Given the description of an element on the screen output the (x, y) to click on. 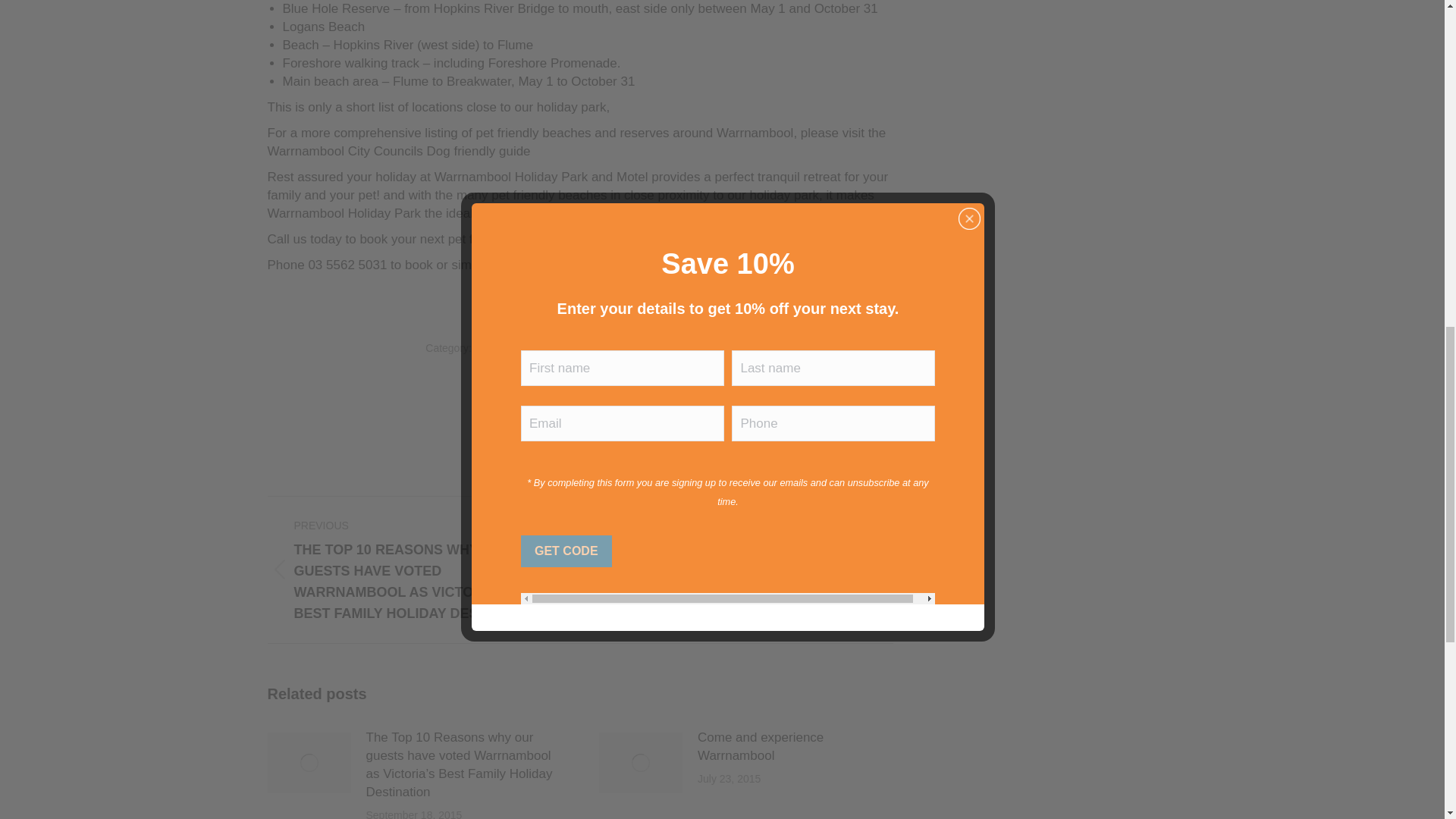
12:26 pm (688, 347)
Facebook (516, 436)
View all posts by Lisa Mordaunt (592, 347)
X (557, 436)
